Given the description of an element on the screen output the (x, y) to click on. 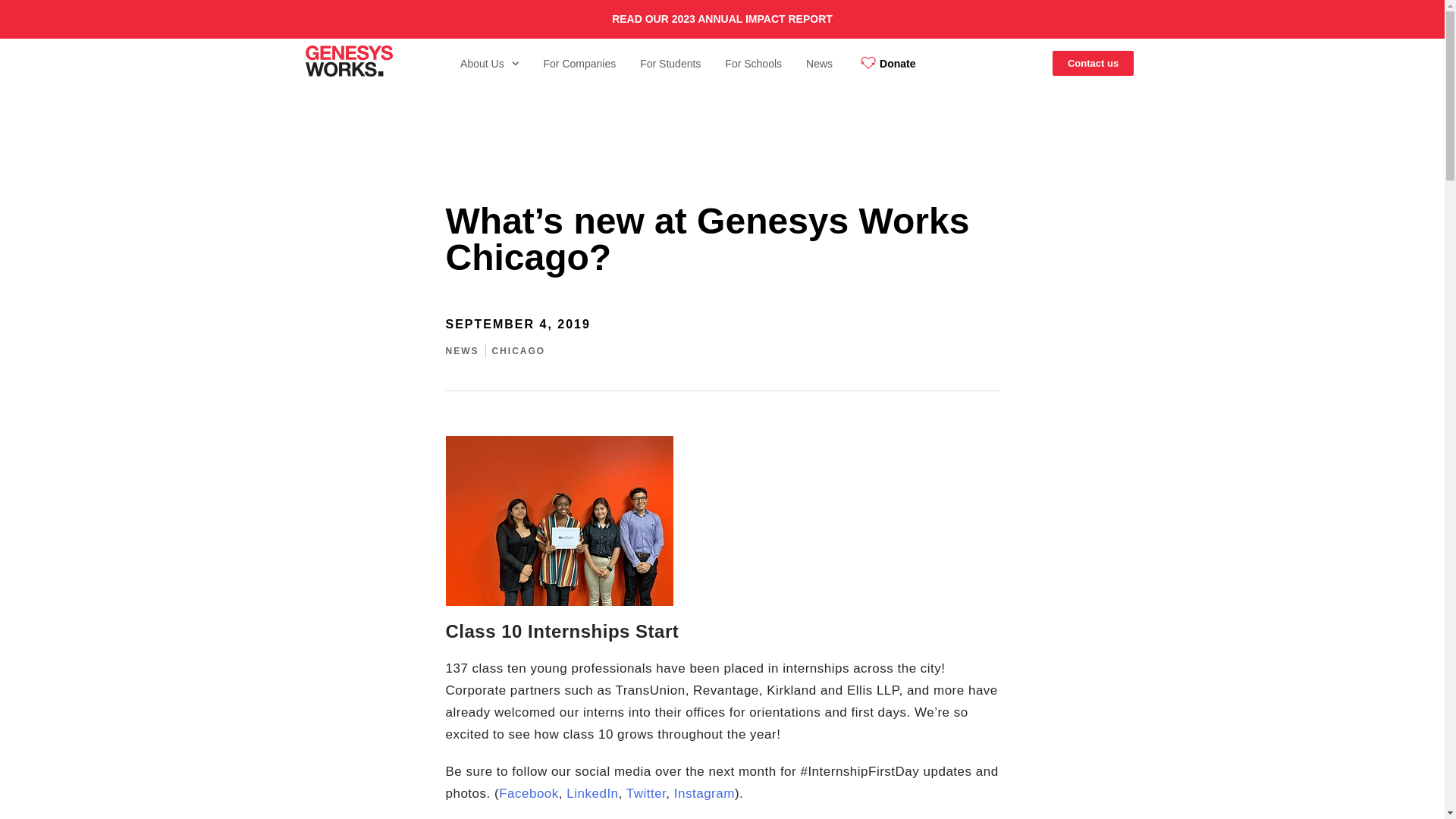
For Companies (579, 62)
About Us (489, 62)
For Students (670, 62)
Donate (885, 62)
READ OUR 2023 ANNUAL IMPACT REPORT (721, 19)
Contact us (1093, 63)
News (818, 62)
LinkedIn (591, 793)
Instagram (704, 793)
Facebook (529, 793)
Twitter (646, 793)
For Schools (753, 62)
